Given the description of an element on the screen output the (x, y) to click on. 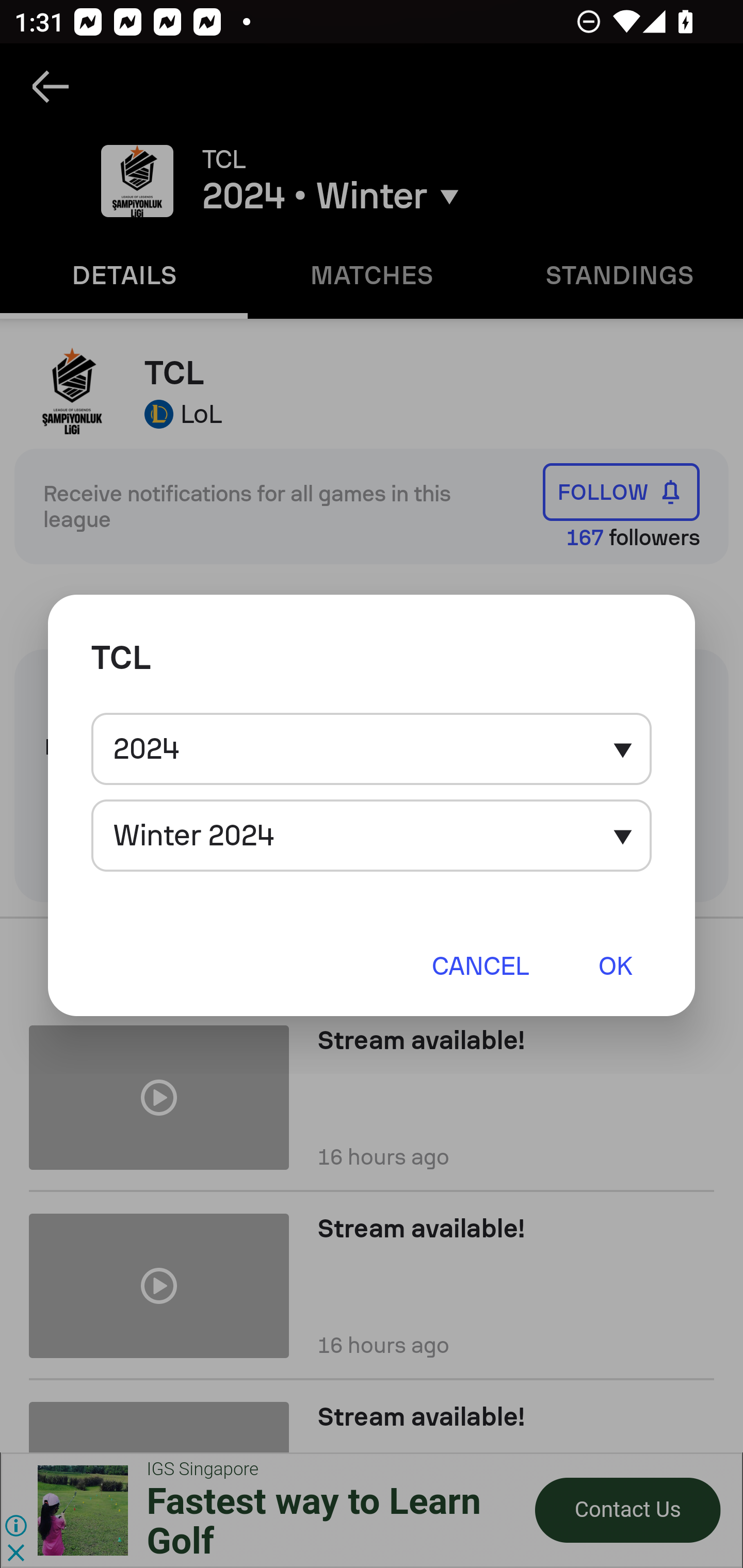
2024 (371, 749)
Winter 2024 (371, 835)
CANCEL (479, 964)
OK (615, 964)
